Given the description of an element on the screen output the (x, y) to click on. 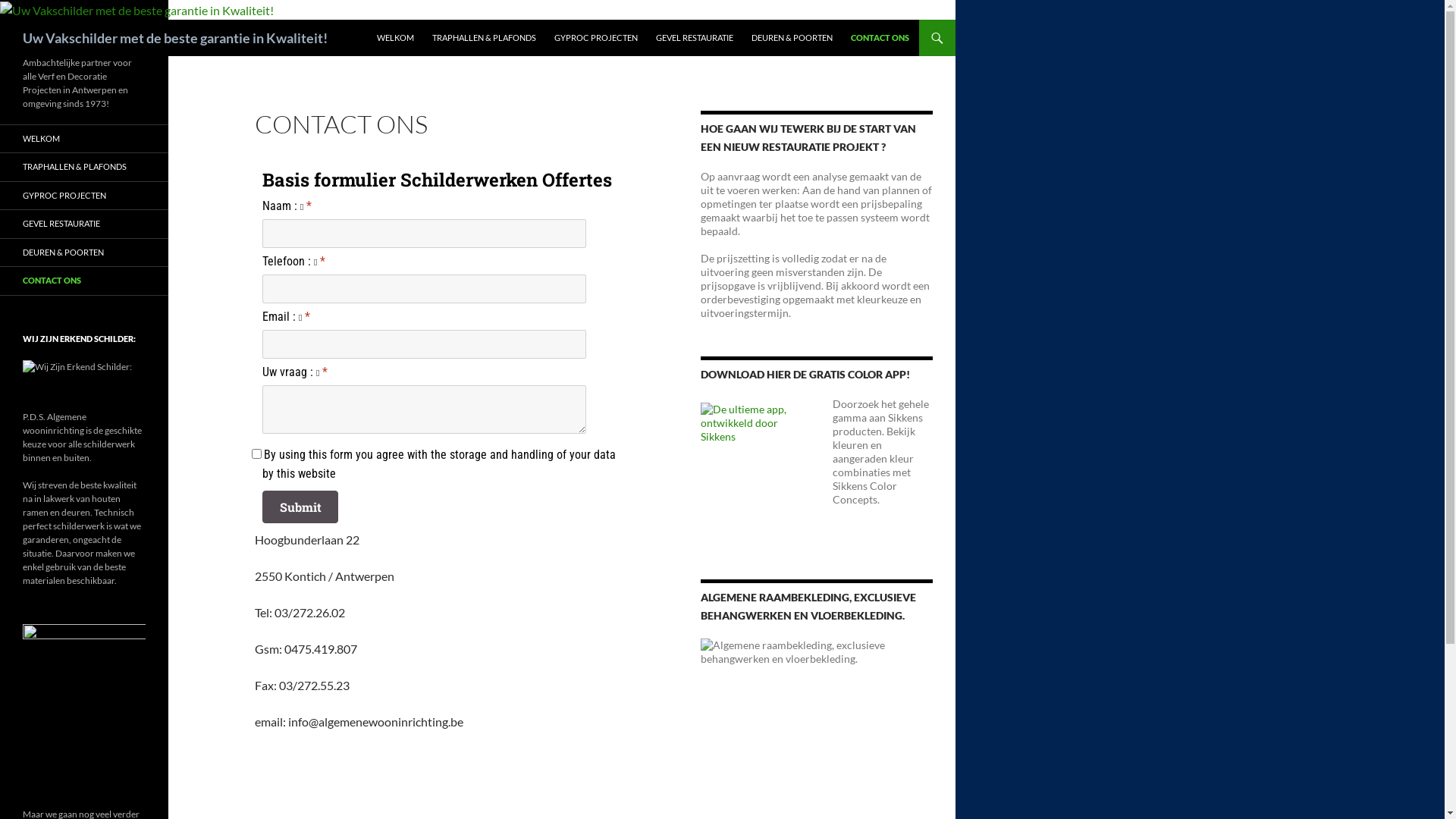
WELKOM Element type: text (84, 139)
GYPROC PROJECTEN Element type: text (595, 37)
Uw Vakschilder met de beste garantie in Kwaliteit! Element type: text (174, 37)
Submit Element type: text (300, 506)
CONTACT ONS Element type: text (84, 280)
WELKOM Element type: text (395, 37)
TRAPHALLEN & PLAFONDS Element type: text (484, 37)
Search Element type: text (3, 18)
DEUREN & POORTEN Element type: text (84, 252)
GYPROC PROJECTEN Element type: text (84, 196)
SKIP TO CONTENT Element type: text (376, 18)
DEUREN & POORTEN Element type: text (791, 37)
GEVEL RESTAURATIE Element type: text (694, 37)
GEVEL RESTAURATIE Element type: text (84, 224)
CONTACT ONS Element type: text (879, 37)
TRAPHALLEN & PLAFONDS Element type: text (84, 167)
